Given the description of an element on the screen output the (x, y) to click on. 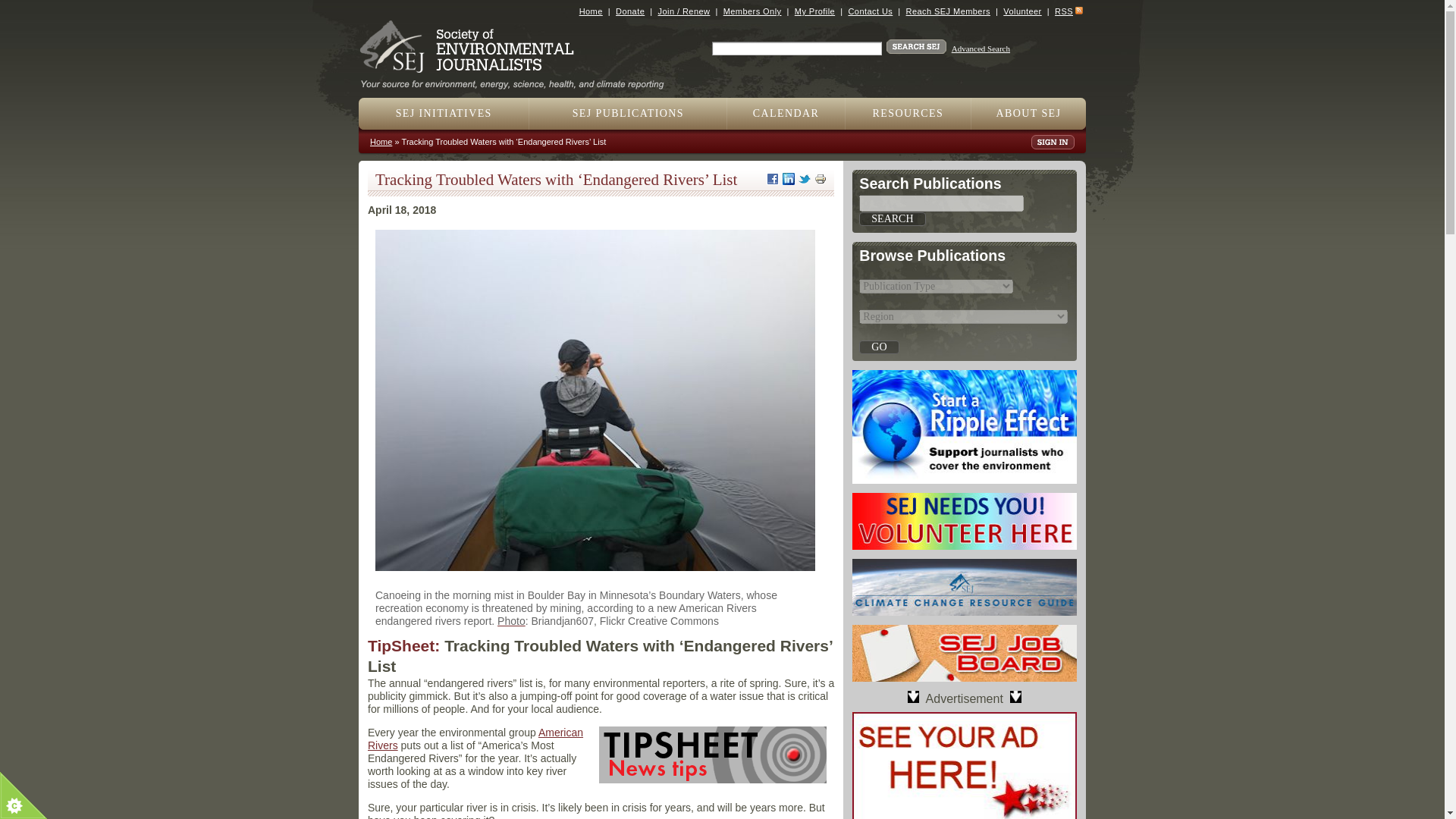
Home (518, 79)
SEJ INITIATIVES (443, 113)
Advanced Search (981, 48)
Go (878, 346)
Search (891, 219)
Volunteer (1022, 10)
SEJ PUBLICATIONS (627, 113)
Contact Us (869, 10)
Enter the terms you wish to search for. (796, 48)
My Profile (814, 10)
Home (590, 10)
Members Only (752, 10)
Donate (630, 10)
Reach SEJ Members (947, 10)
RSS (1063, 10)
